Given the description of an element on the screen output the (x, y) to click on. 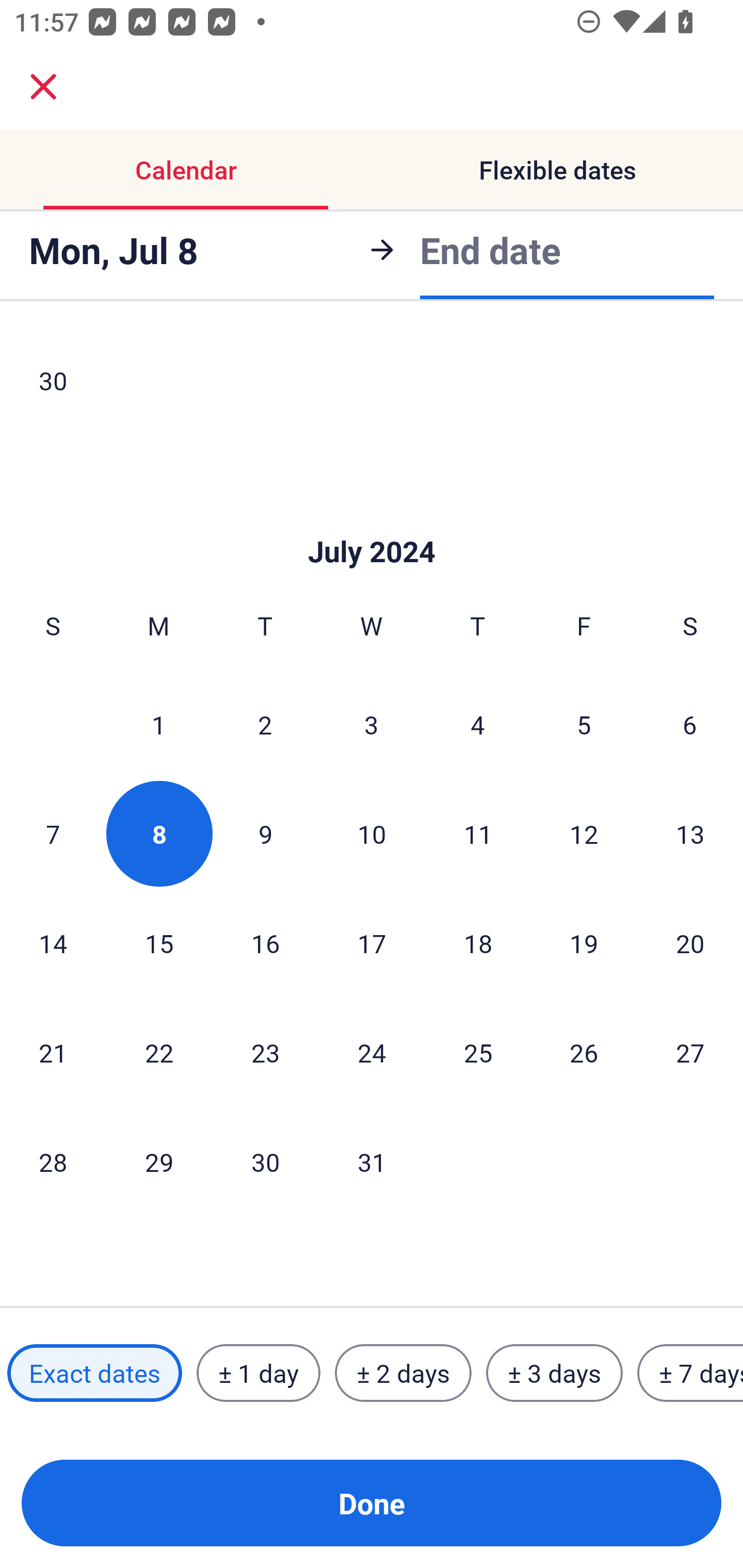
close. (43, 86)
Flexible dates (557, 170)
End date (489, 249)
30 Sunday, June 30, 2024 (53, 381)
Skip to Done (371, 521)
1 Monday, July 1, 2024 (158, 724)
2 Tuesday, July 2, 2024 (264, 724)
3 Wednesday, July 3, 2024 (371, 724)
4 Thursday, July 4, 2024 (477, 724)
5 Friday, July 5, 2024 (583, 724)
6 Saturday, July 6, 2024 (689, 724)
7 Sunday, July 7, 2024 (53, 832)
9 Tuesday, July 9, 2024 (265, 832)
10 Wednesday, July 10, 2024 (371, 832)
11 Thursday, July 11, 2024 (477, 832)
12 Friday, July 12, 2024 (584, 832)
13 Saturday, July 13, 2024 (690, 832)
14 Sunday, July 14, 2024 (53, 942)
15 Monday, July 15, 2024 (159, 942)
16 Tuesday, July 16, 2024 (265, 942)
17 Wednesday, July 17, 2024 (371, 942)
18 Thursday, July 18, 2024 (477, 942)
19 Friday, July 19, 2024 (584, 942)
20 Saturday, July 20, 2024 (690, 942)
21 Sunday, July 21, 2024 (53, 1052)
22 Monday, July 22, 2024 (159, 1052)
23 Tuesday, July 23, 2024 (265, 1052)
24 Wednesday, July 24, 2024 (371, 1052)
25 Thursday, July 25, 2024 (477, 1052)
26 Friday, July 26, 2024 (584, 1052)
27 Saturday, July 27, 2024 (690, 1052)
28 Sunday, July 28, 2024 (53, 1161)
29 Monday, July 29, 2024 (159, 1161)
30 Tuesday, July 30, 2024 (265, 1161)
31 Wednesday, July 31, 2024 (371, 1161)
Exact dates (94, 1372)
± 1 day (258, 1372)
± 2 days (403, 1372)
± 3 days (553, 1372)
± 7 days (690, 1372)
Done (371, 1502)
